Given the description of an element on the screen output the (x, y) to click on. 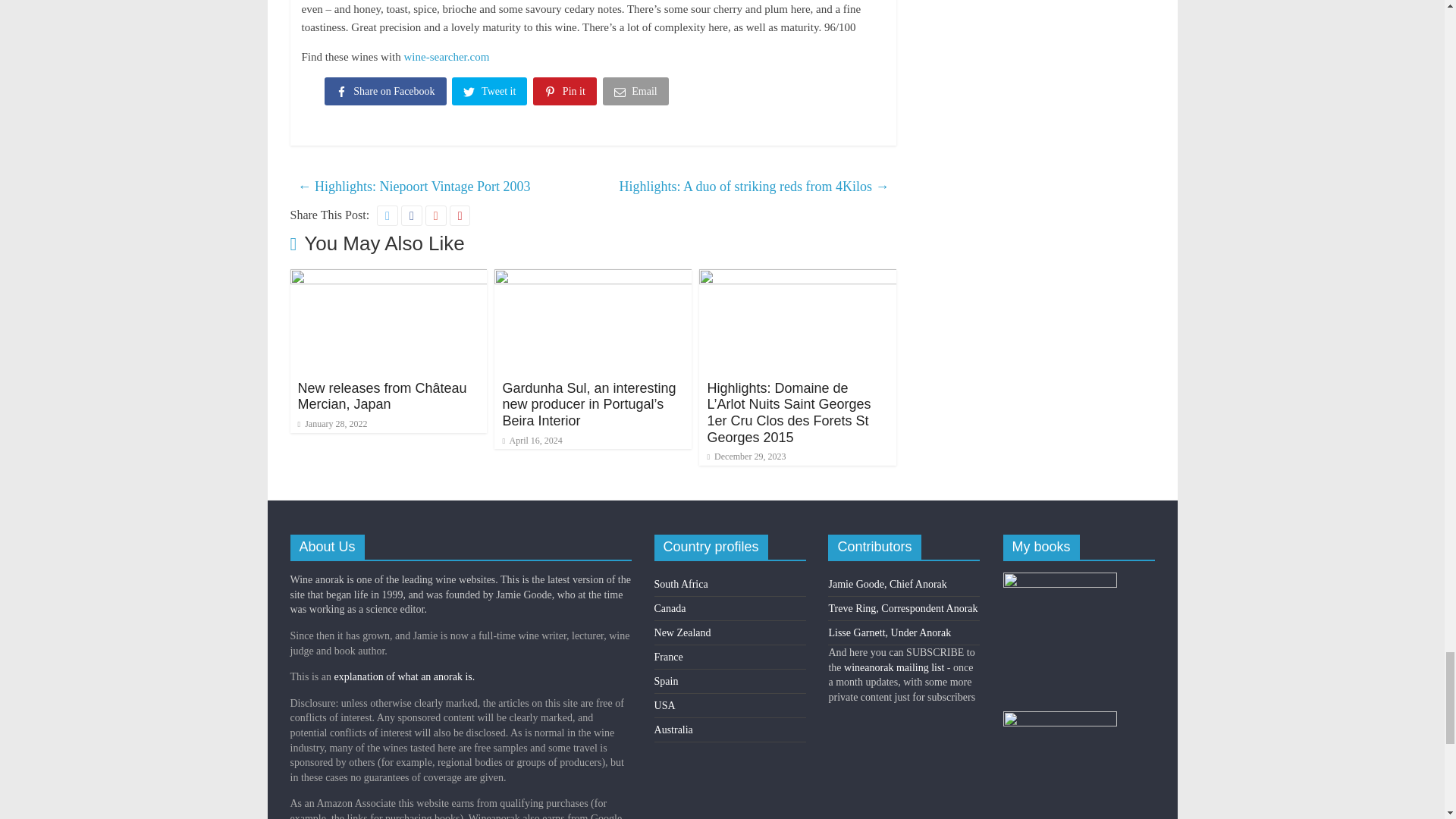
Pin it (565, 93)
Share on Facebook (386, 93)
Email (636, 93)
Email (636, 93)
Tweet (490, 93)
Share on Facebook (386, 93)
wine-searcher.com (446, 56)
Pin (565, 93)
Tweet it (490, 93)
